Given the description of an element on the screen output the (x, y) to click on. 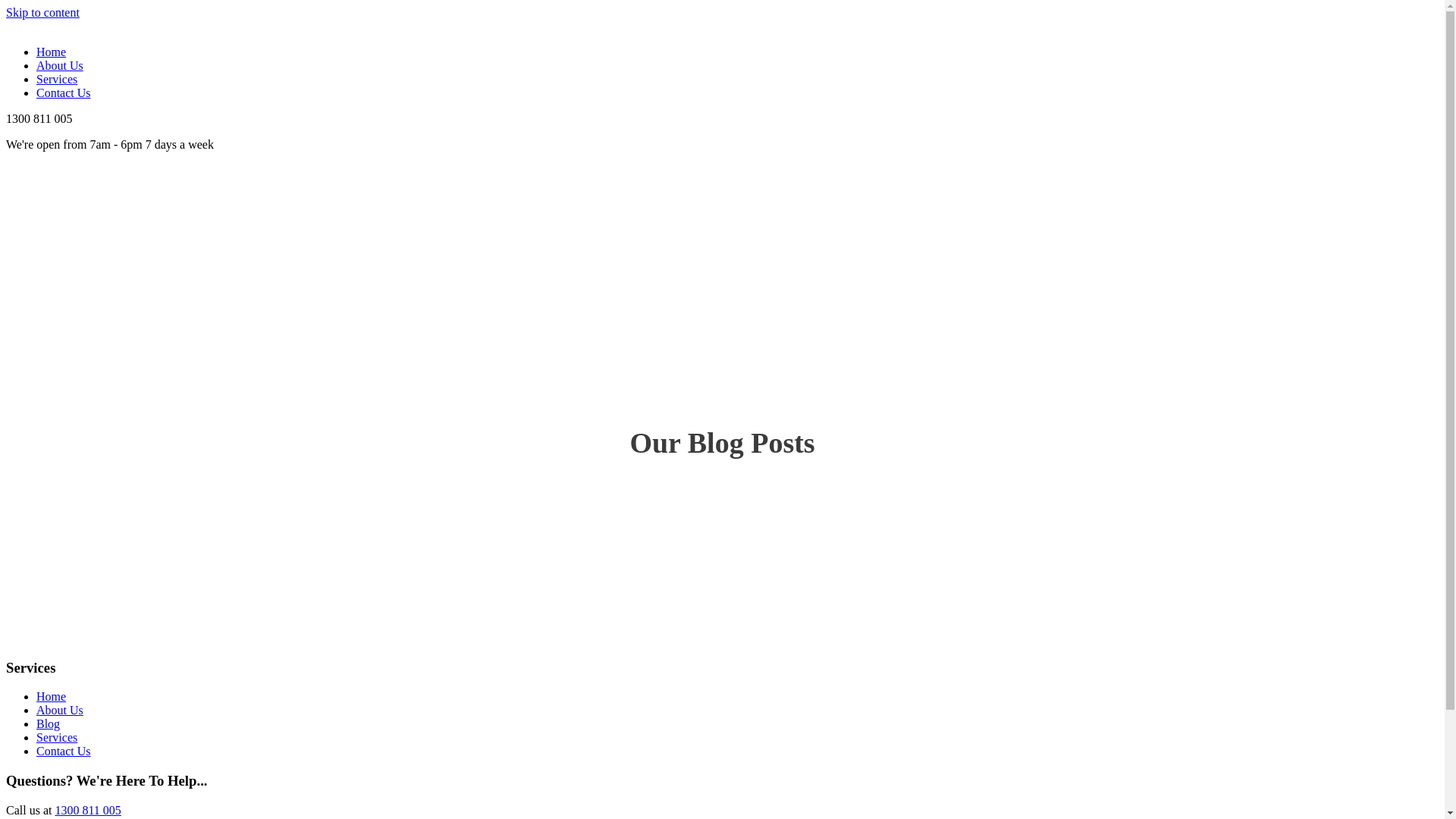
Services Element type: text (56, 78)
Contact Us Element type: text (63, 750)
Home Element type: text (50, 696)
1300 811 005 Element type: text (87, 809)
About Us Element type: text (59, 709)
Services Element type: text (56, 737)
About Us Element type: text (59, 65)
Home Element type: text (50, 51)
Skip to content Element type: text (42, 12)
Contact Us Element type: text (63, 92)
Blog Element type: text (47, 723)
